Given the description of an element on the screen output the (x, y) to click on. 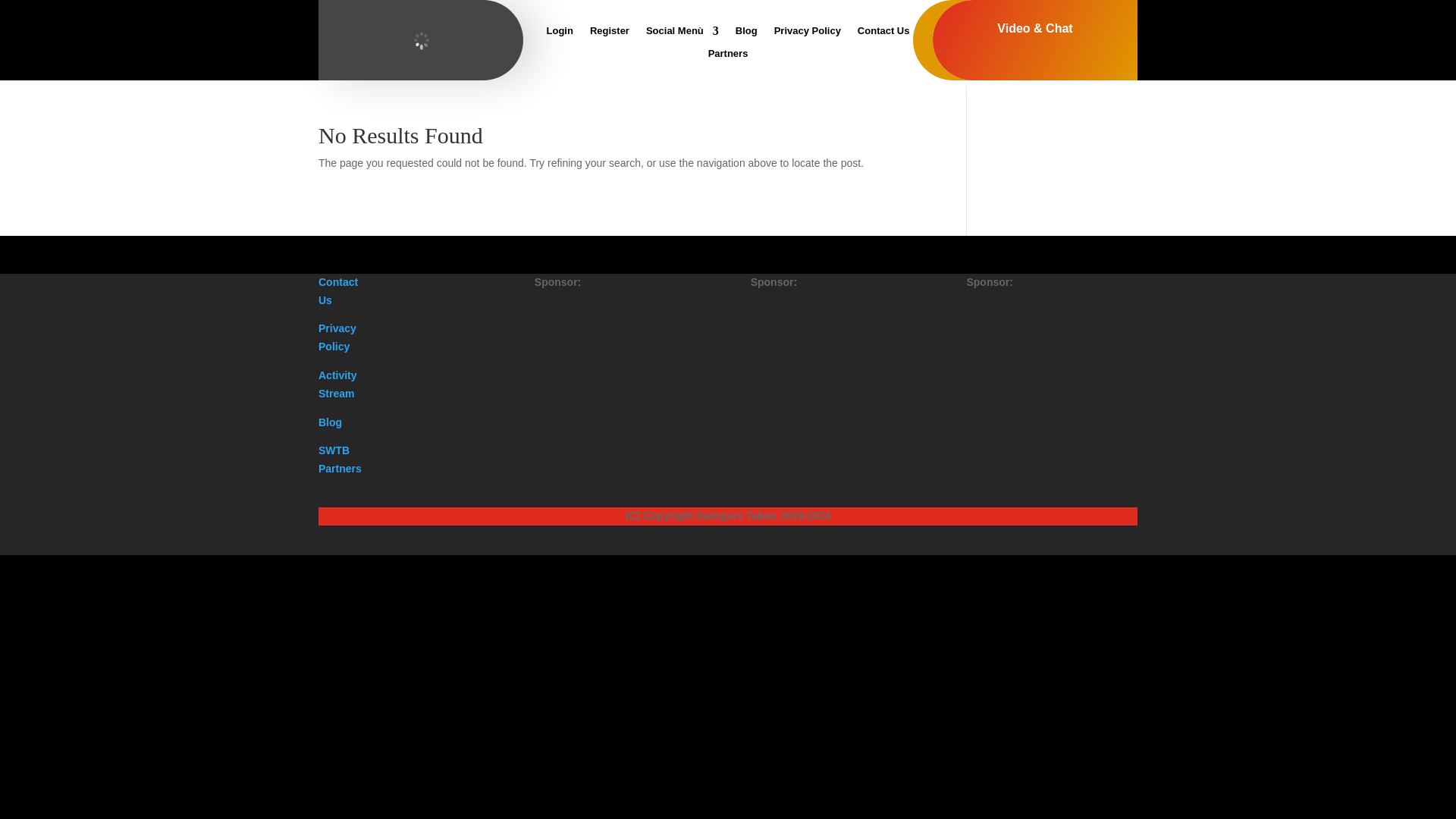
Privacy Policy (337, 337)
SWTB Partners (339, 459)
Blog (330, 422)
Register (608, 33)
Activity Stream (337, 384)
Blog (746, 33)
Contact Us (338, 291)
Partners (727, 56)
Login (560, 33)
Contact Us (883, 33)
Privacy Policy (807, 33)
